Given the description of an element on the screen output the (x, y) to click on. 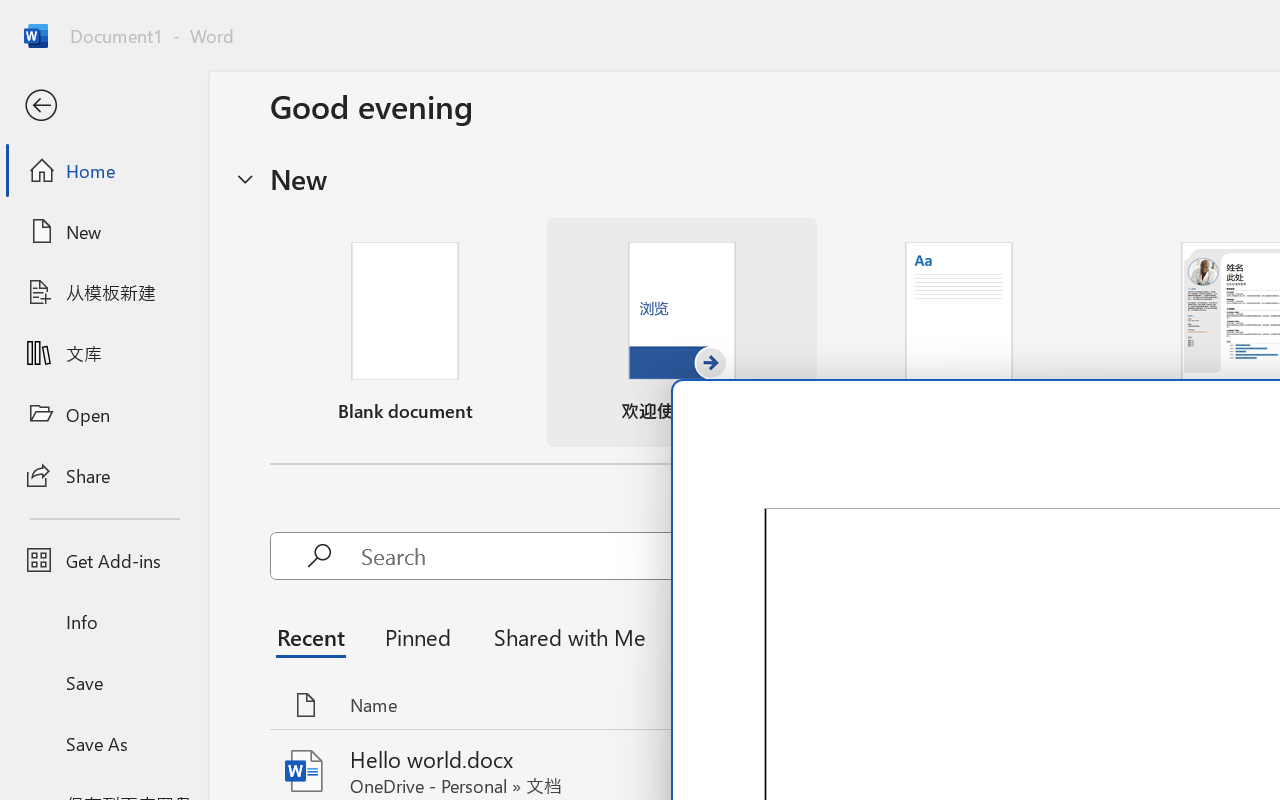
Back (104, 106)
Shared with Me (563, 636)
Hide or show region (245, 178)
Info (104, 621)
Get Add-ins (104, 560)
Pinned (417, 636)
New (104, 231)
Recent (316, 636)
